Given the description of an element on the screen output the (x, y) to click on. 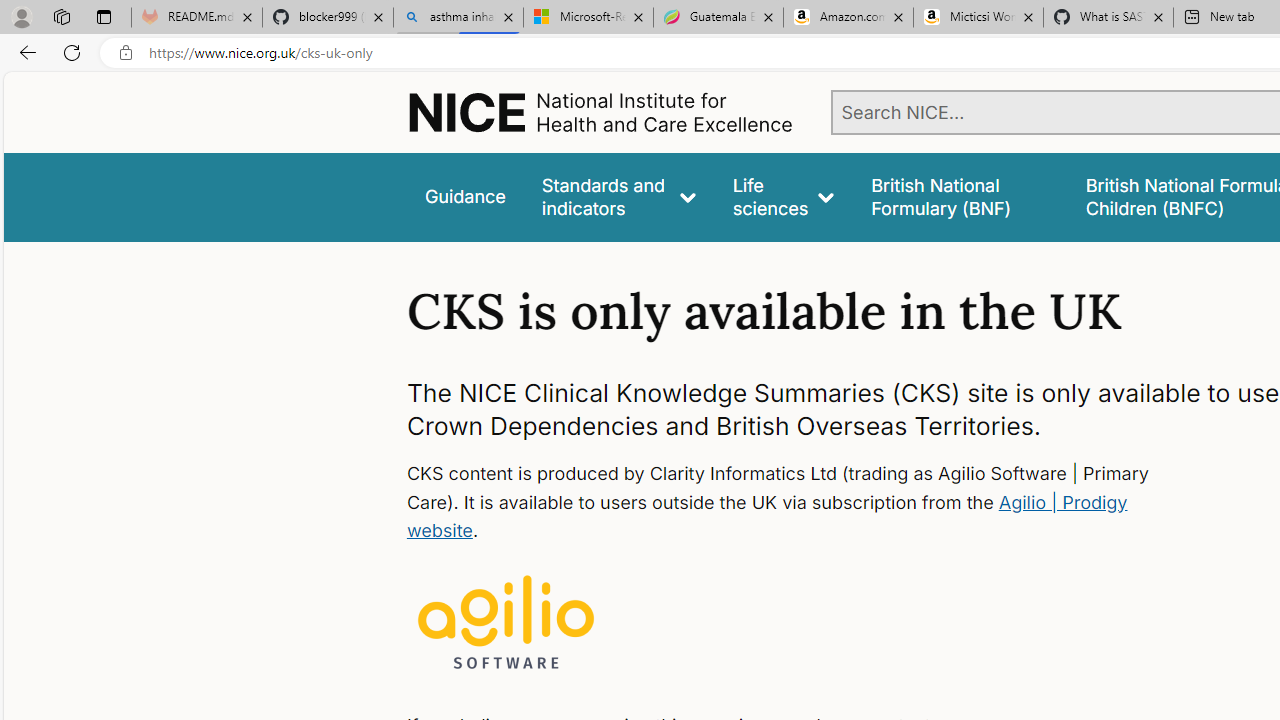
Personal Profile (21, 16)
View site information (125, 53)
asthma inhaler - Search (458, 17)
Logo for Clarity Consulting (505, 624)
Microsoft-Report a Concern to Bing (587, 17)
